Given the description of an element on the screen output the (x, y) to click on. 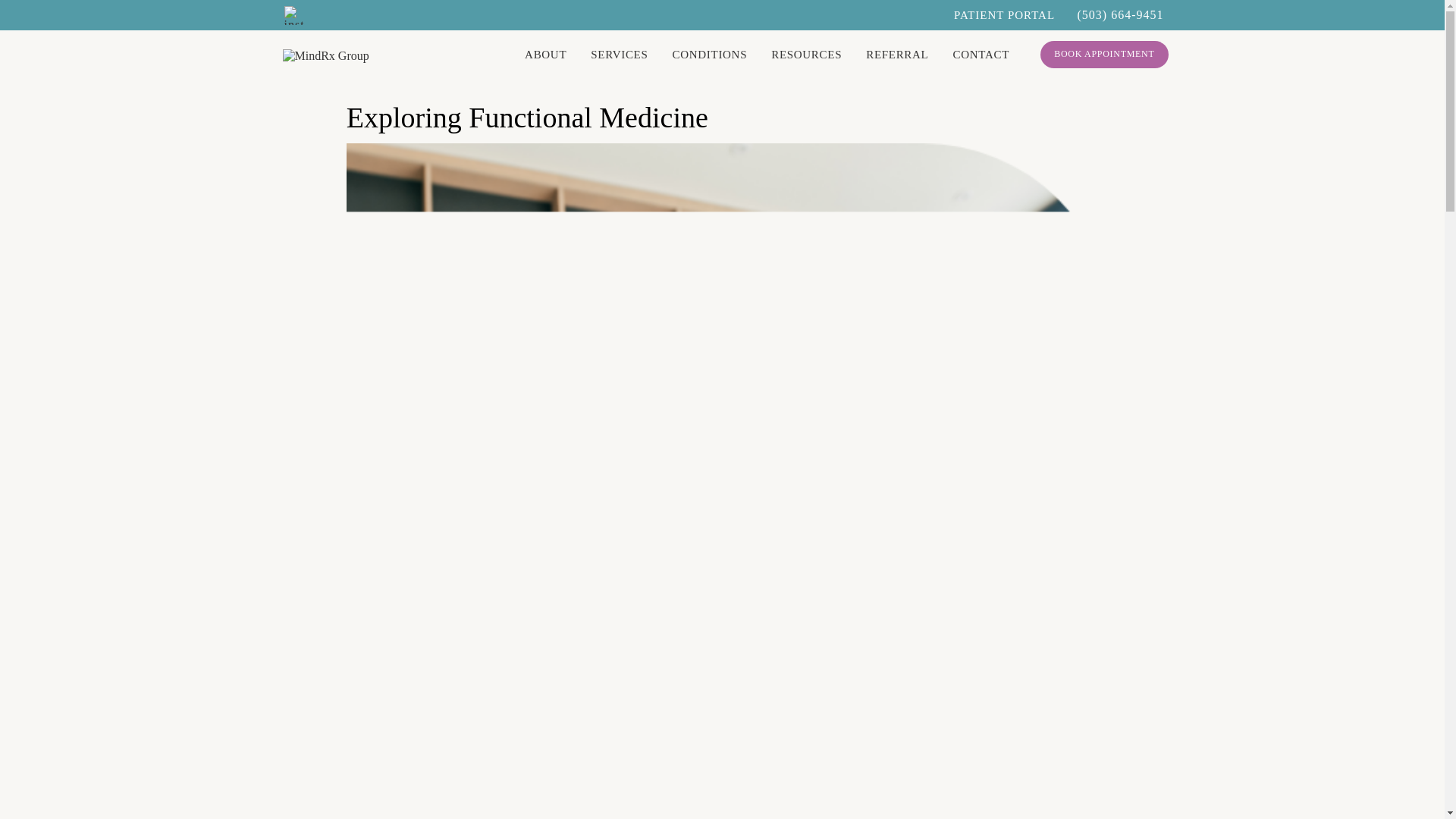
PATIENT PORTAL (1003, 15)
RESOURCES (806, 54)
CONTACT (980, 54)
REFERRAL (897, 54)
ABOUT (545, 54)
SERVICES (619, 54)
BOOK APPOINTMENT (1104, 53)
CONDITIONS (710, 54)
